Given the description of an element on the screen output the (x, y) to click on. 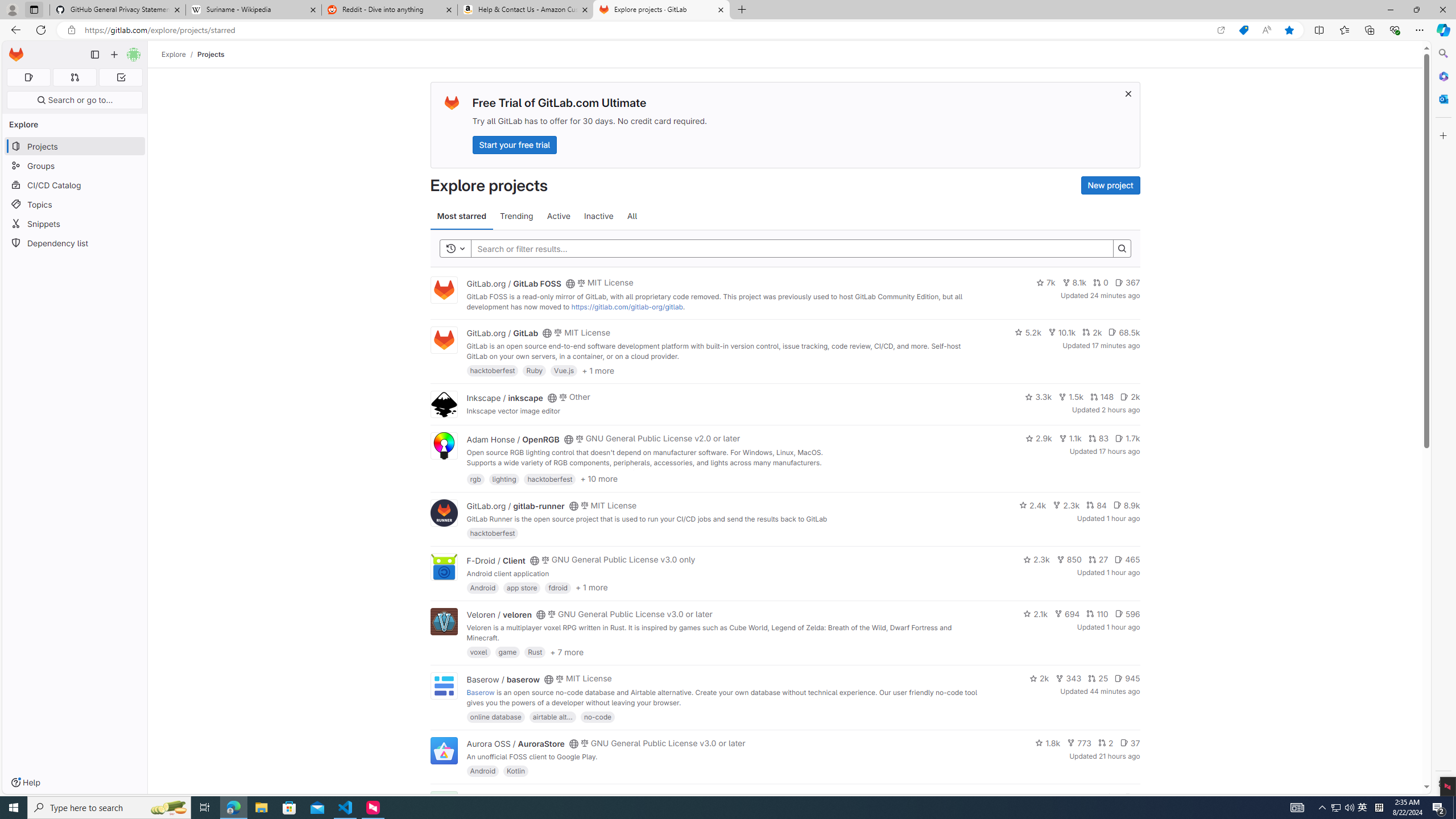
App bar (728, 29)
83 (1098, 438)
Baserow (480, 691)
Explore/ (179, 53)
New project (1110, 185)
27 (1097, 559)
fdroid (558, 587)
To-Do list 0 (120, 76)
Adam Honse / OpenRGB (512, 438)
343 (1068, 678)
GitLab.org / gitlab-runner (514, 506)
37 (1129, 742)
airtable alt... (552, 715)
